Given the description of an element on the screen output the (x, y) to click on. 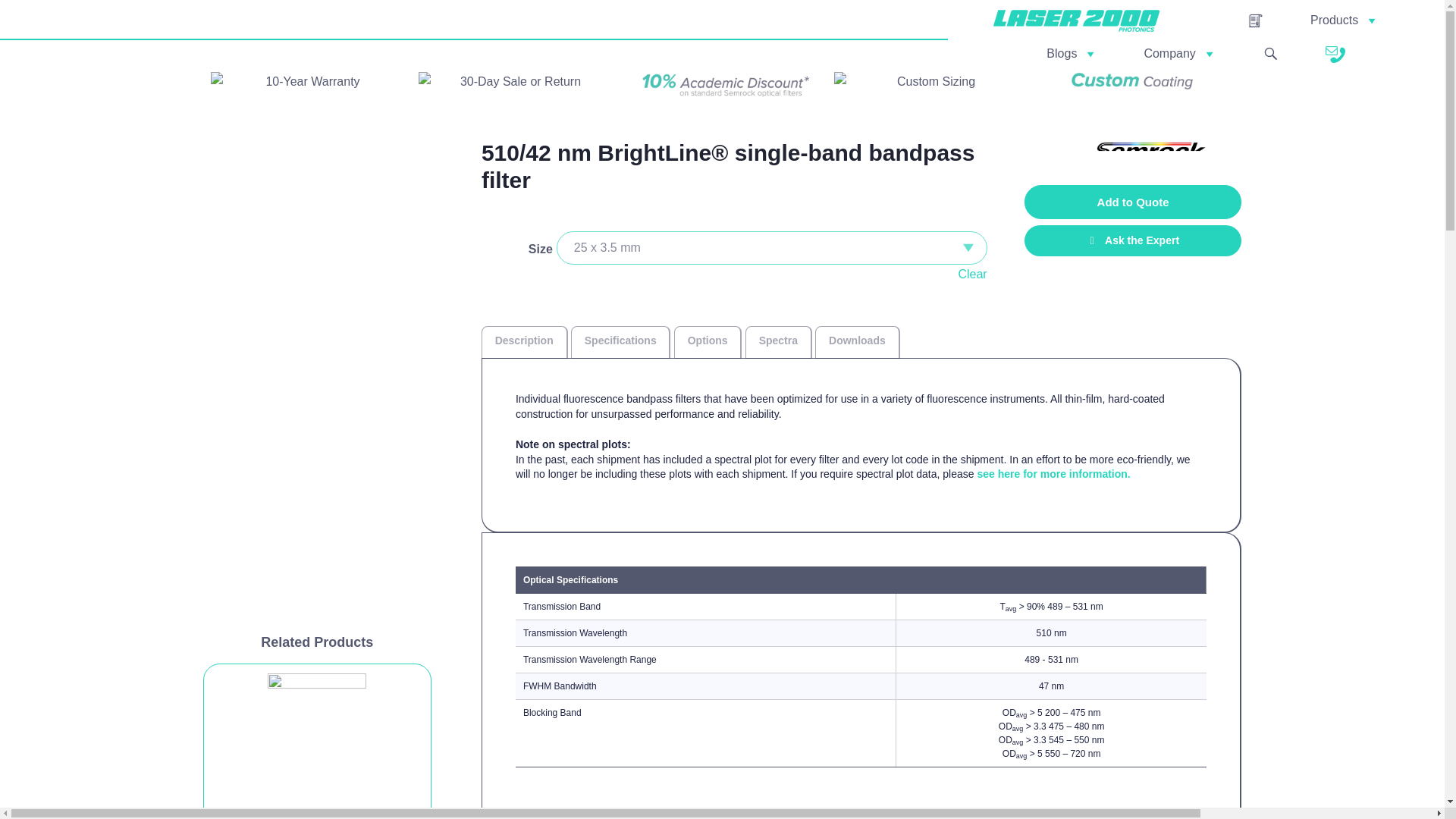
Products (1344, 20)
Request a Quotation (1255, 21)
